Given the description of an element on the screen output the (x, y) to click on. 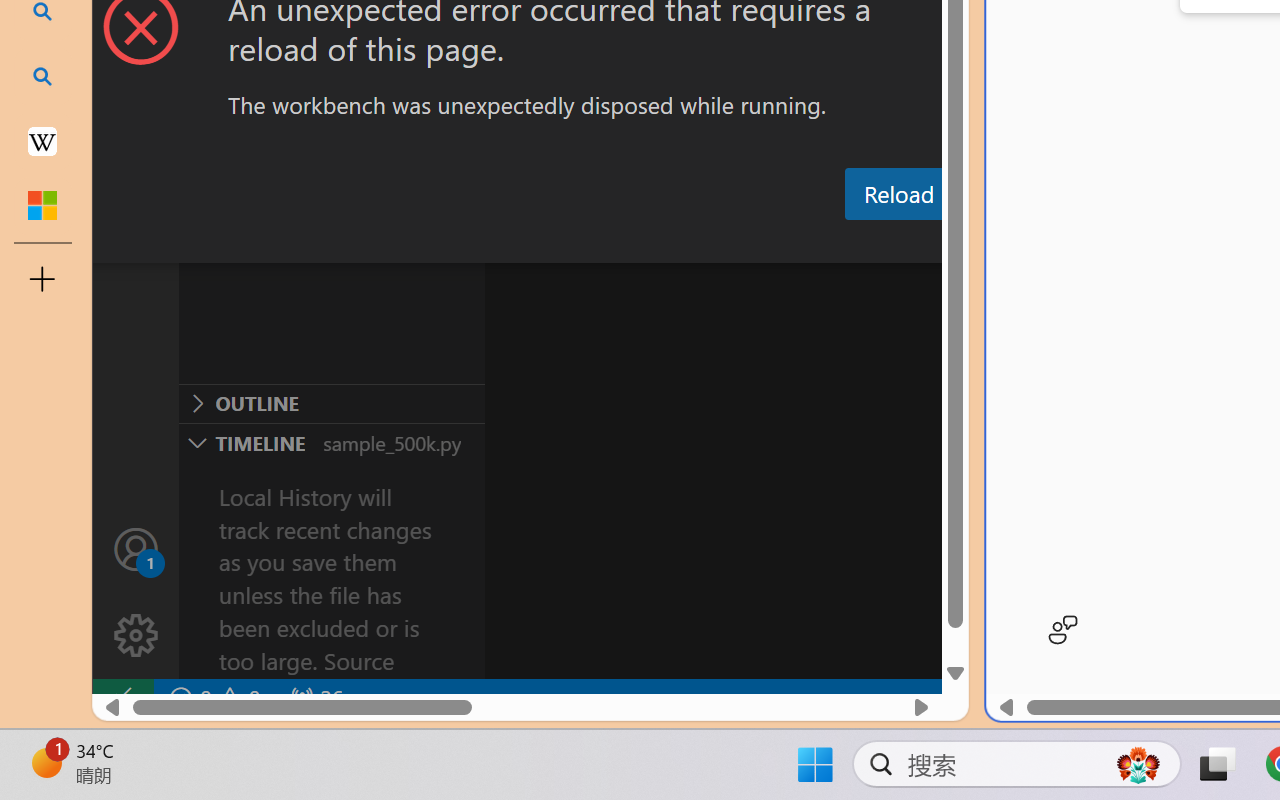
Earth - Wikipedia (42, 140)
Debug Console (Ctrl+Shift+Y) (854, 243)
Reload (898, 193)
Accounts - Sign in requested (135, 548)
remote (122, 698)
